Given the description of an element on the screen output the (x, y) to click on. 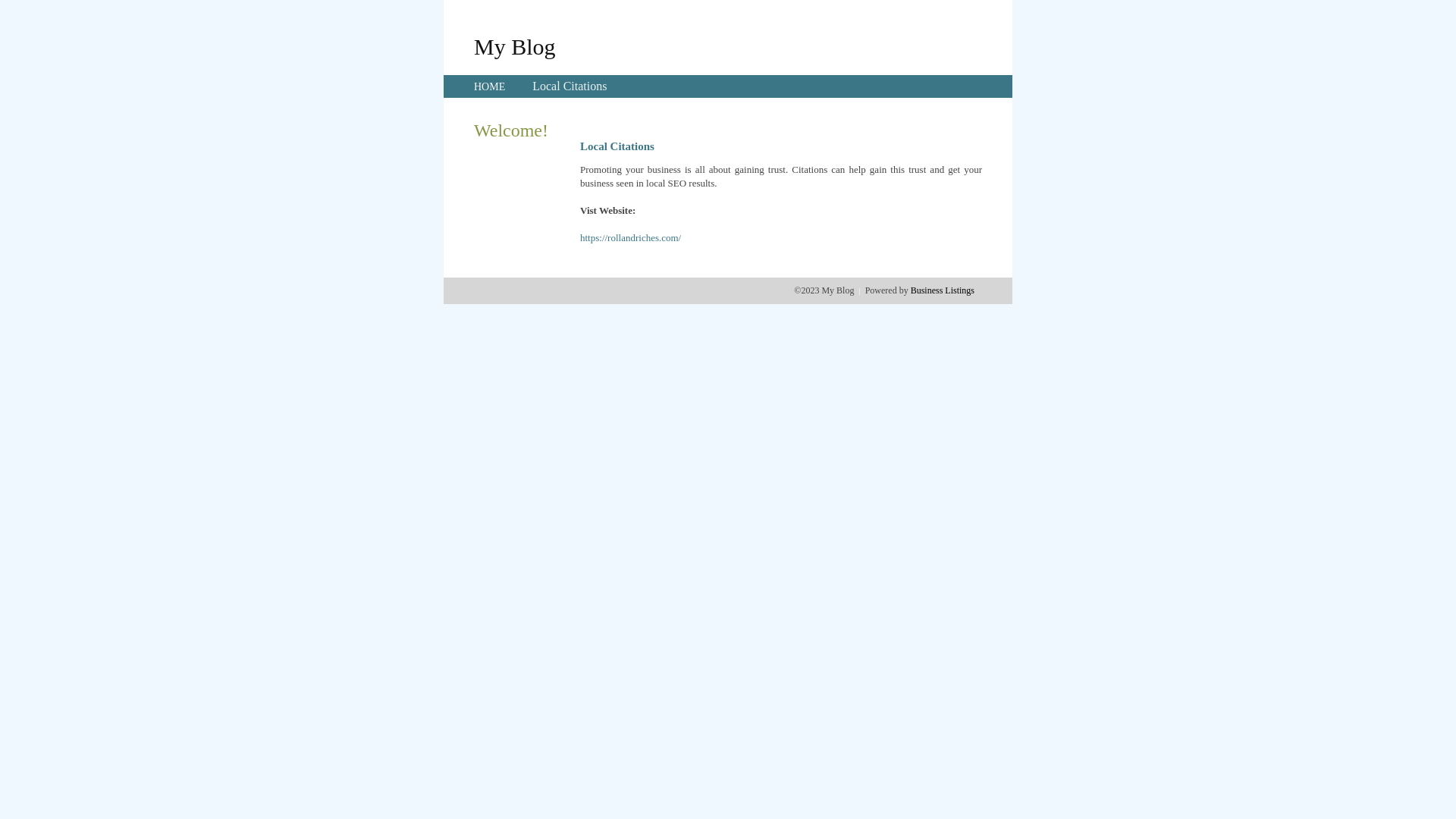
Local Citations Element type: text (569, 85)
My Blog Element type: text (514, 46)
https://rollandriches.com/ Element type: text (630, 237)
Business Listings Element type: text (942, 290)
HOME Element type: text (489, 86)
